Given the description of an element on the screen output the (x, y) to click on. 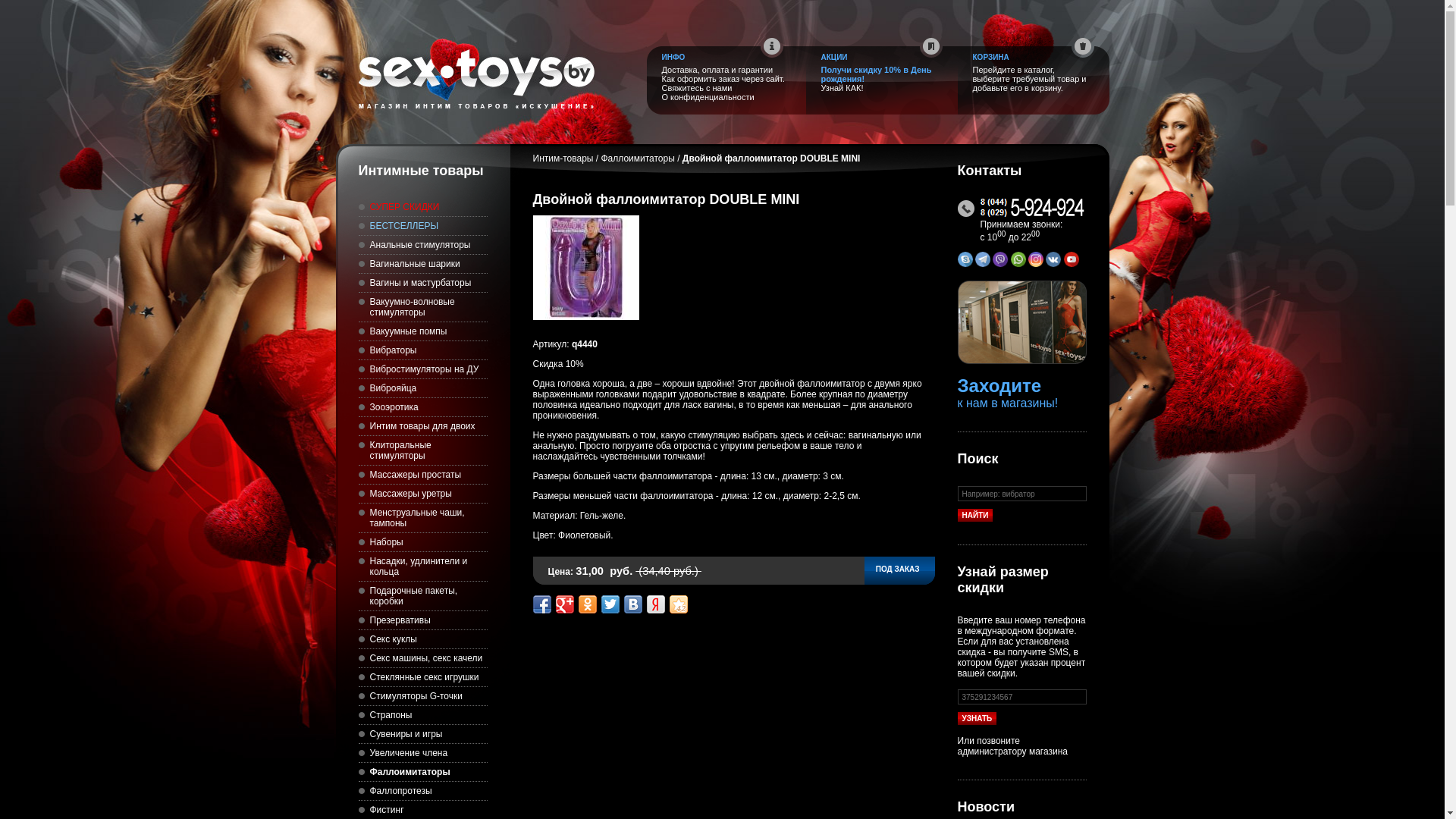
Save to Yandex Bookmarks Element type: hover (655, 604)
Share on Facebook Element type: hover (541, 604)
Share42.com - Free Social Sharing Buttons Script Element type: hover (677, 604)
Share on Twitter Element type: hover (609, 604)
Share on VK Element type: hover (632, 604)
Share to Odnoklassniki.ru Element type: hover (586, 604)
Share on Google+ Element type: hover (564, 604)
